Given the description of an element on the screen output the (x, y) to click on. 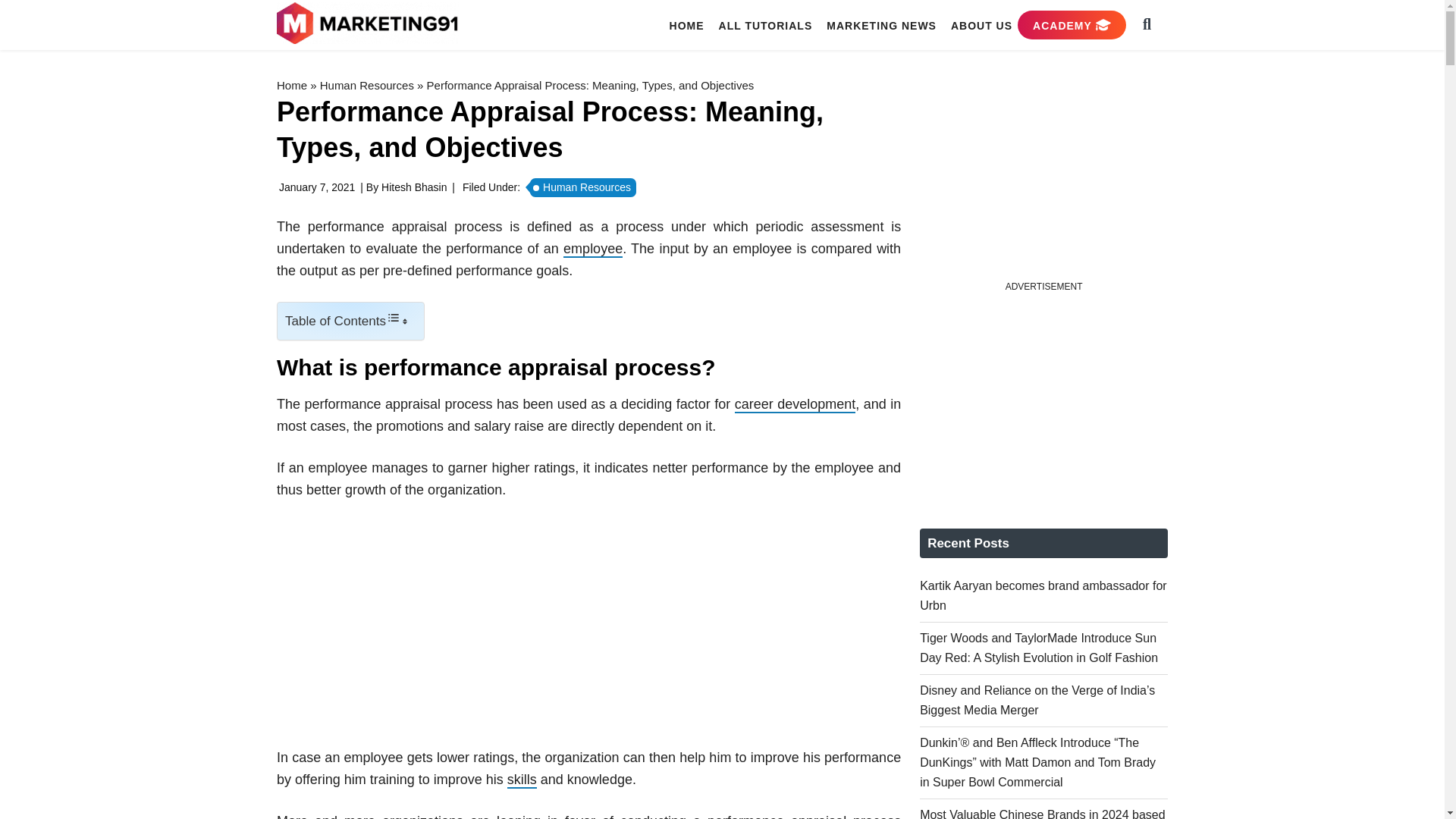
ALL TUTORIALS (766, 24)
MARKETING91 (369, 24)
HOME (687, 24)
